Given the description of an element on the screen output the (x, y) to click on. 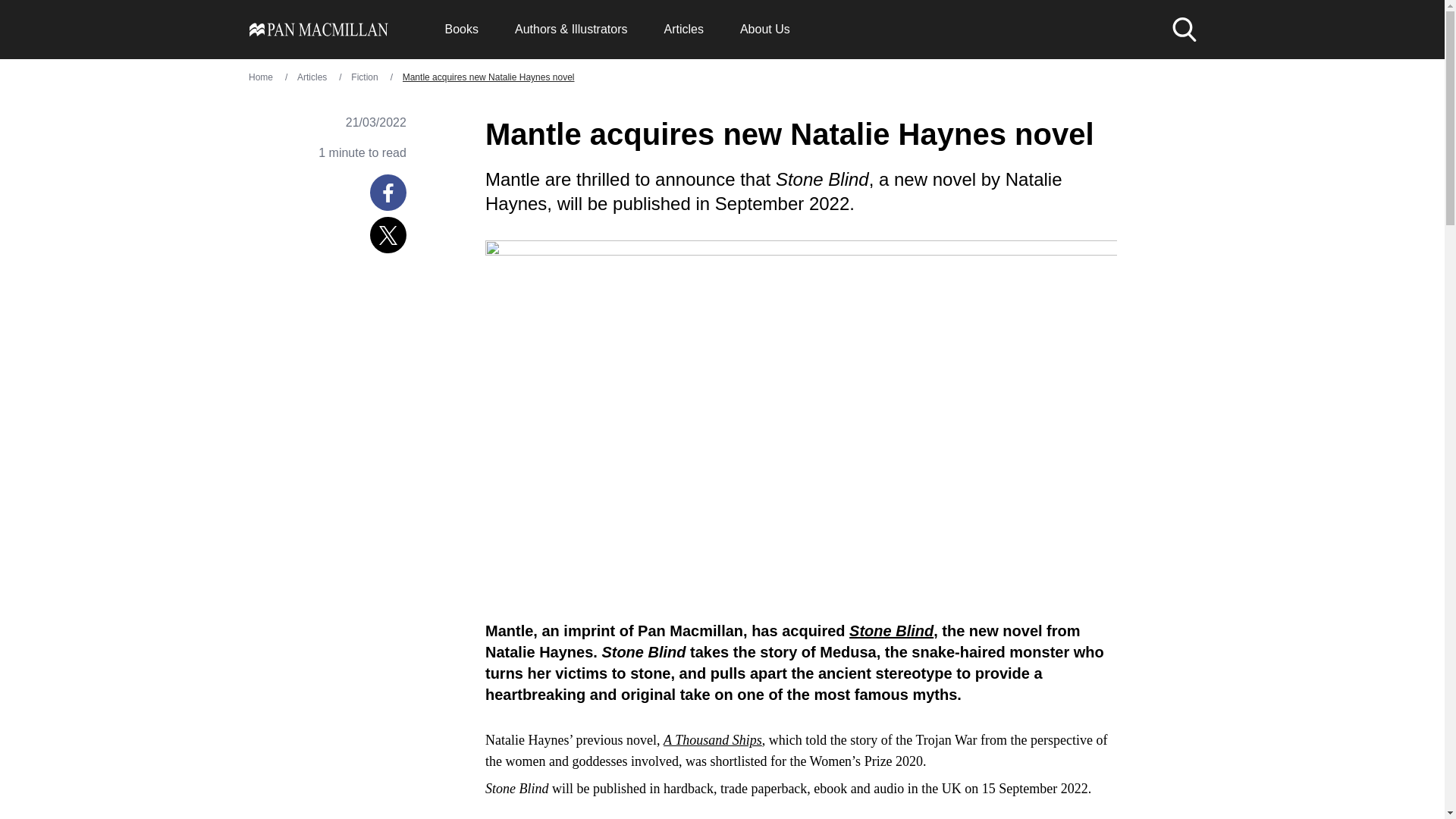
More information about Stone Blind by Natalie Haynes (890, 630)
Share on Facebook (387, 192)
Books (460, 29)
